Given the description of an element on the screen output the (x, y) to click on. 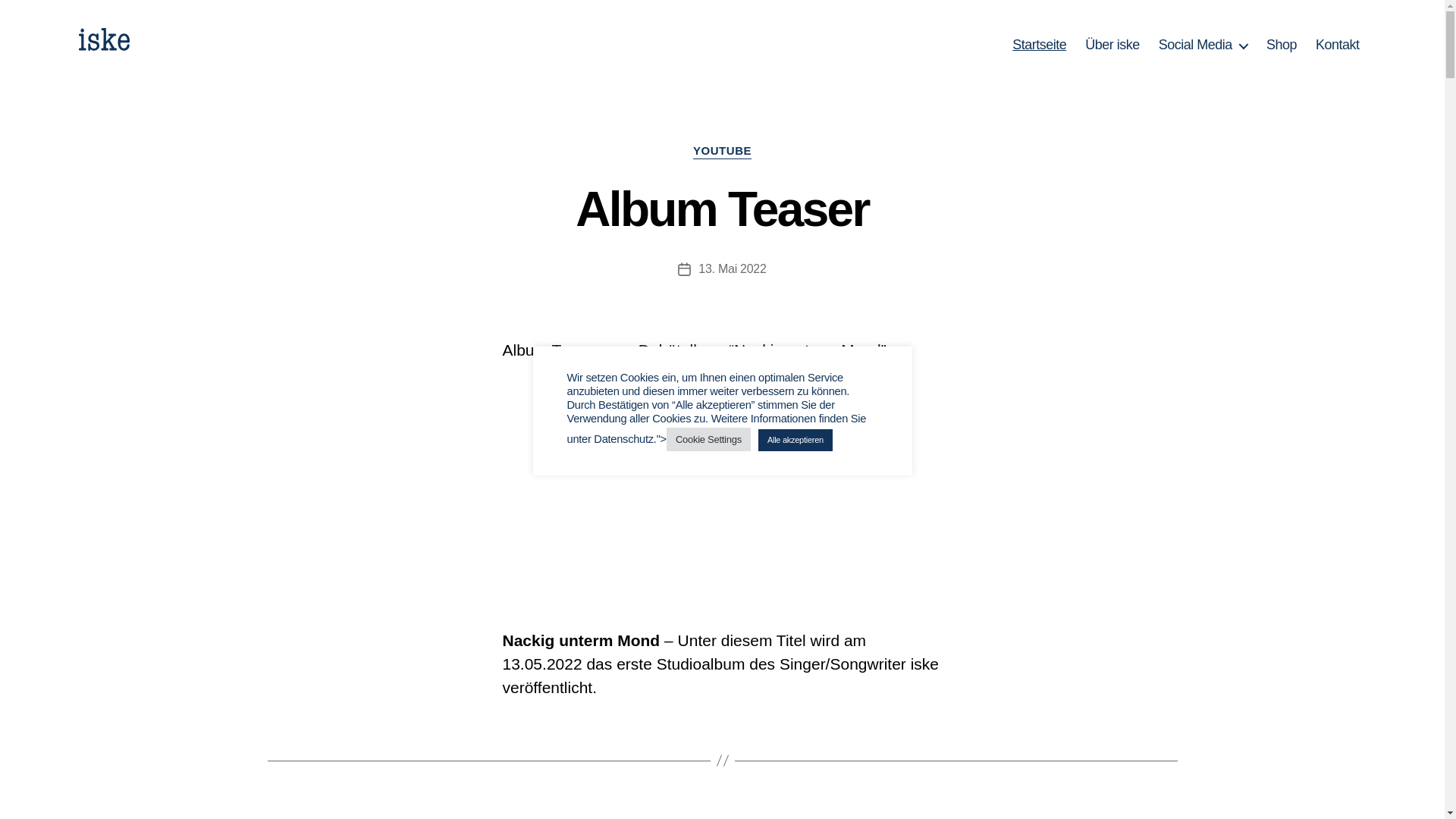
Startseite Element type: text (1039, 45)
YouTube player Element type: hover (721, 485)
Album Teaser Element type: text (722, 209)
Cookie Settings Element type: text (708, 439)
Shop Element type: text (1281, 45)
YOUTUBE Element type: text (722, 151)
13. Mai 2022 Element type: text (731, 268)
Alle akzeptieren Element type: text (795, 440)
Kontakt Element type: text (1337, 45)
Social Media Element type: text (1202, 45)
